Given the description of an element on the screen output the (x, y) to click on. 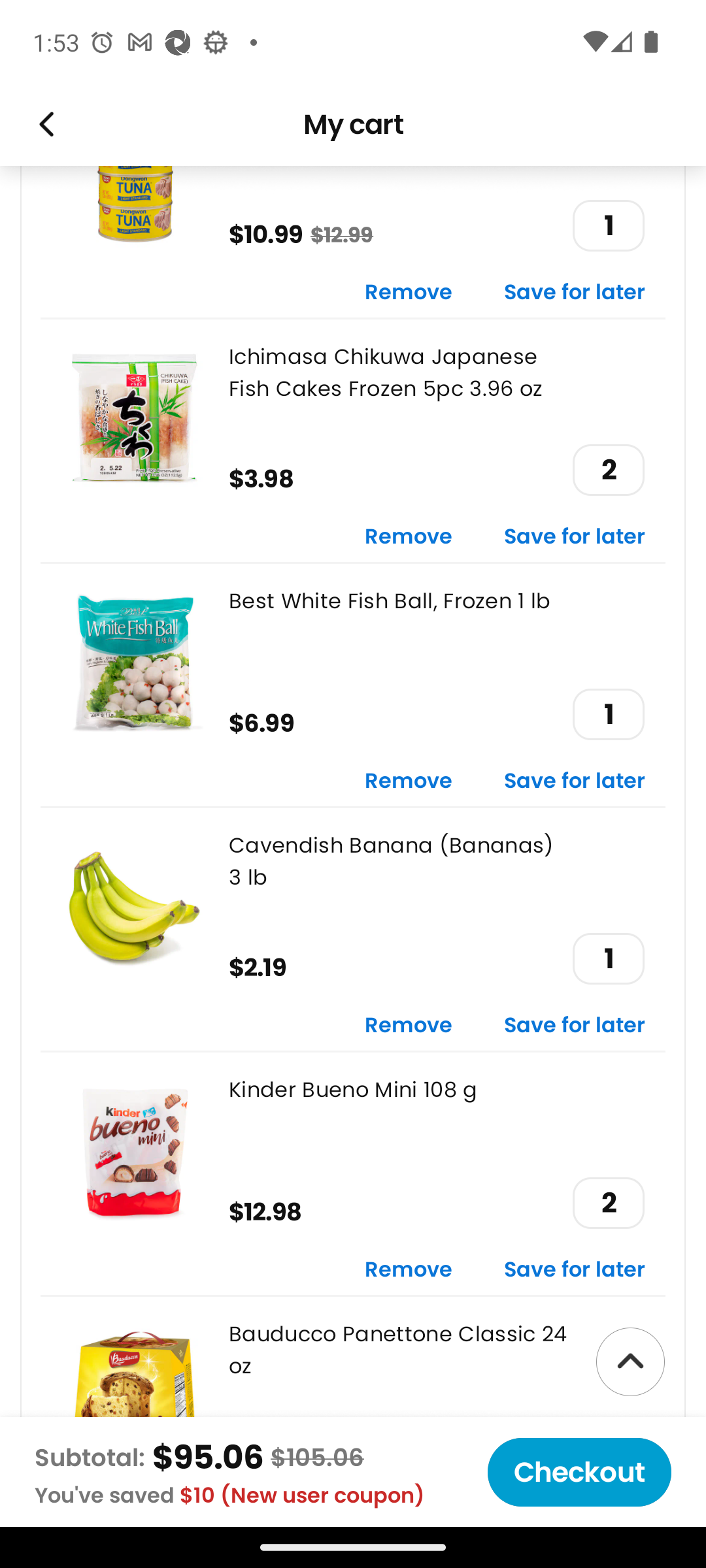
$10.99 $12.99 1 Remove Save for later (352, 241)
1 (608, 225)
Remove (408, 292)
Save for later (574, 292)
2 (608, 469)
Remove (408, 536)
Save for later (574, 536)
1 (608, 714)
Remove (408, 781)
Save for later (574, 781)
1 (608, 958)
Remove (408, 1025)
Save for later (574, 1025)
2 (608, 1203)
Remove (408, 1270)
Save for later (574, 1270)
Checkout (579, 1471)
